Given the description of an element on the screen output the (x, y) to click on. 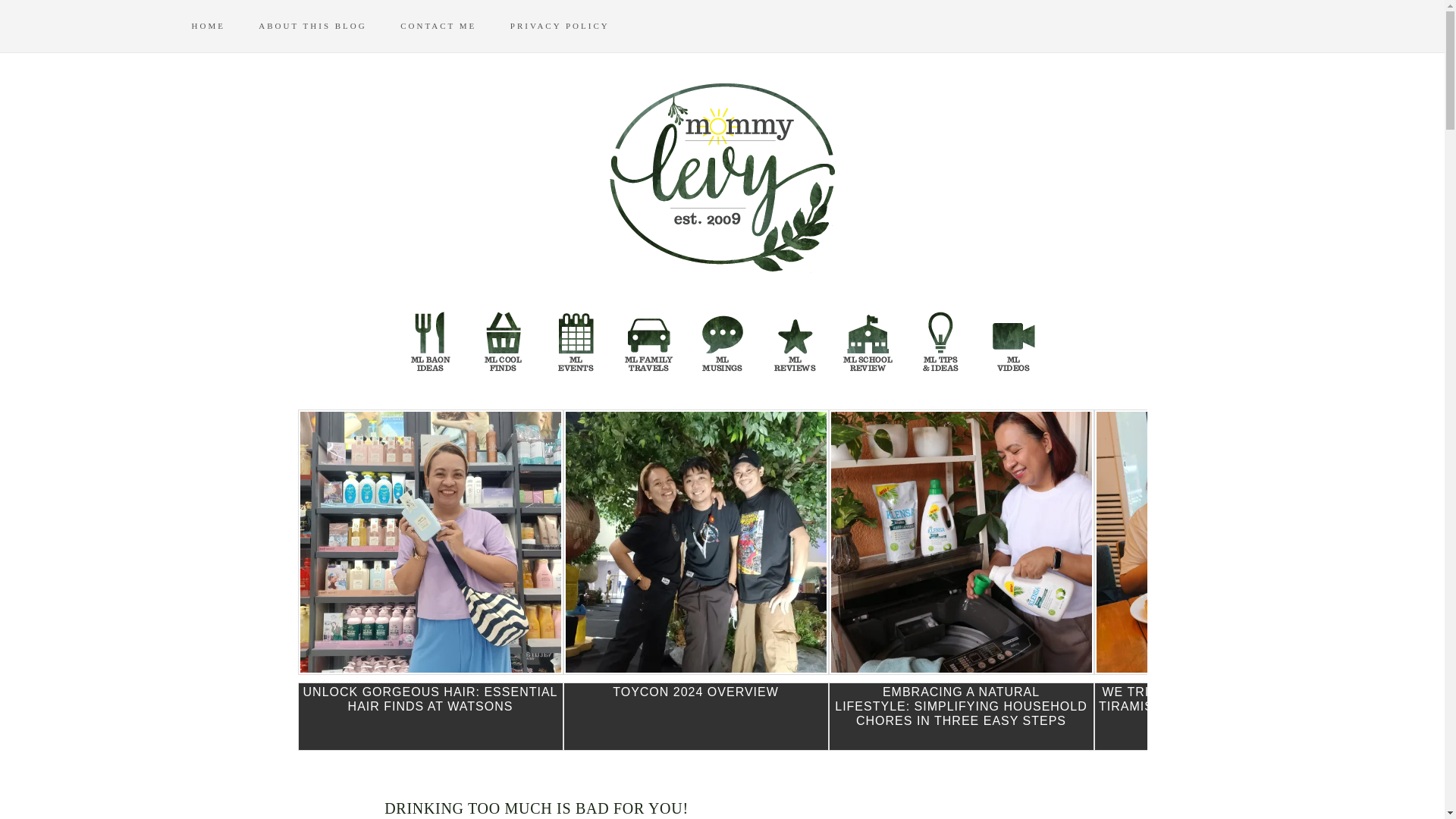
UNLOCK GORGEOUS HAIR: ESSENTIAL HAIR FINDS AT WATSONS (429, 716)
HOME (221, 26)
ABOUT THIS BLOG (327, 26)
CONTACT ME (452, 26)
PRIVACY POLICY (575, 26)
TOYCON 2024 OVERVIEW (695, 716)
